Given the description of an element on the screen output the (x, y) to click on. 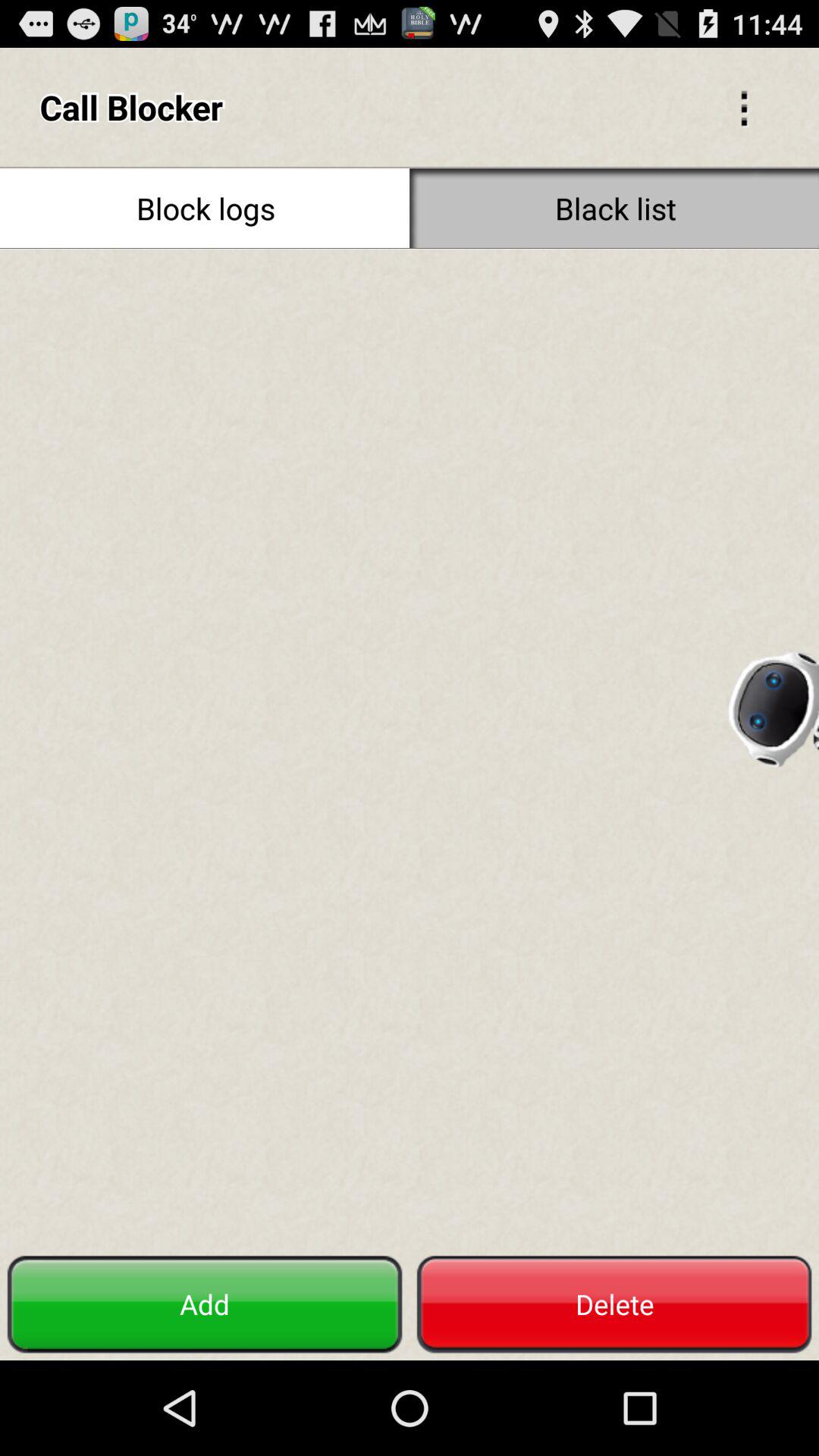
turn off the icon to the right of call blocker item (744, 107)
